Given the description of an element on the screen output the (x, y) to click on. 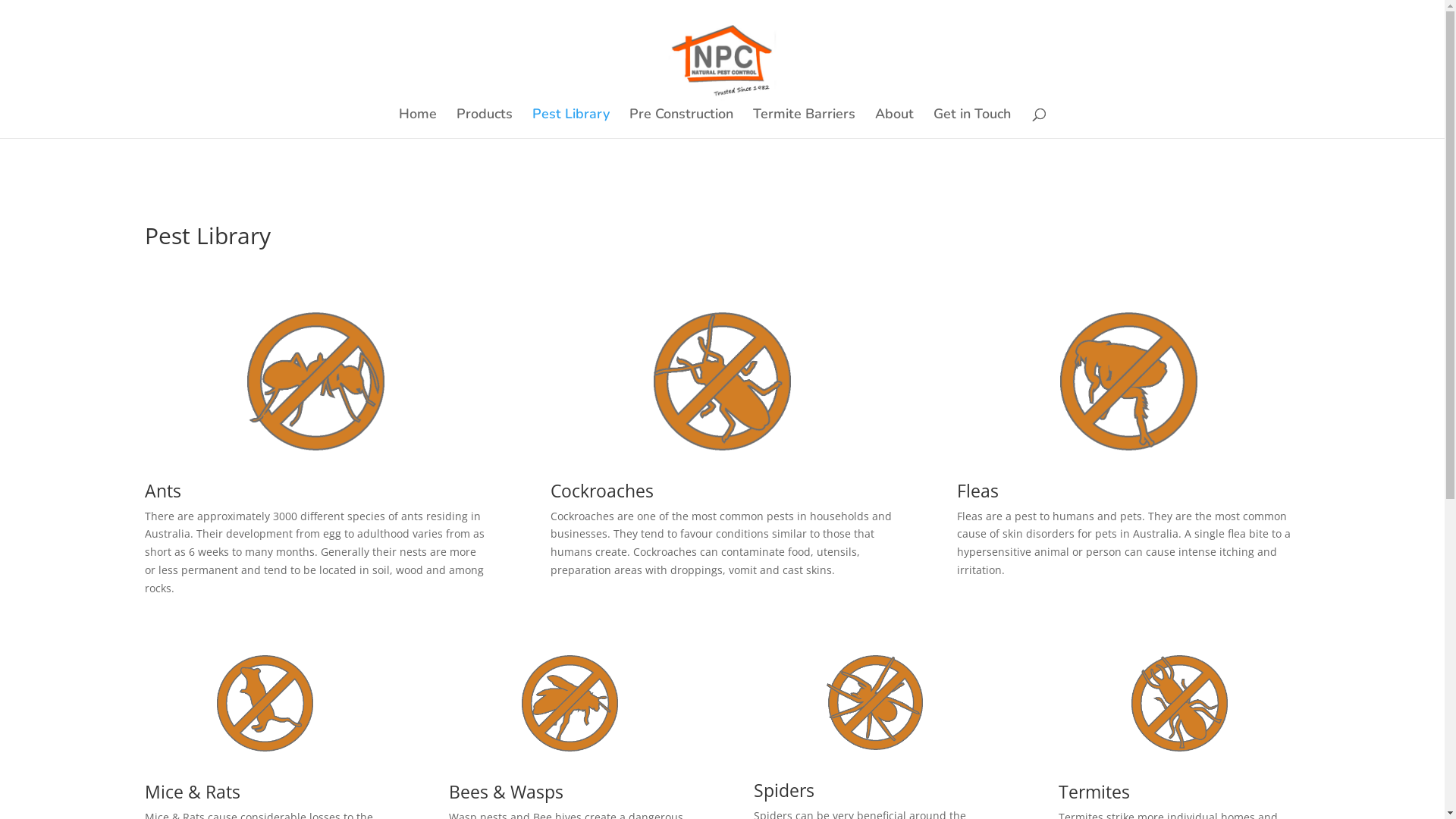
About Element type: text (894, 123)
Pre Construction Element type: text (681, 123)
Ants Element type: text (162, 490)
Cockroaches Element type: text (601, 490)
Fleas Element type: text (977, 490)
Products Element type: text (484, 123)
Spiders Element type: text (783, 790)
Get in Touch Element type: text (971, 123)
Pest Library Element type: text (570, 123)
Termites Element type: text (1093, 791)
Home Element type: text (417, 123)
Bees & Wasps Element type: text (505, 791)
Mice & Rats Element type: text (191, 791)
Termite Barriers Element type: text (804, 123)
